Given the description of an element on the screen output the (x, y) to click on. 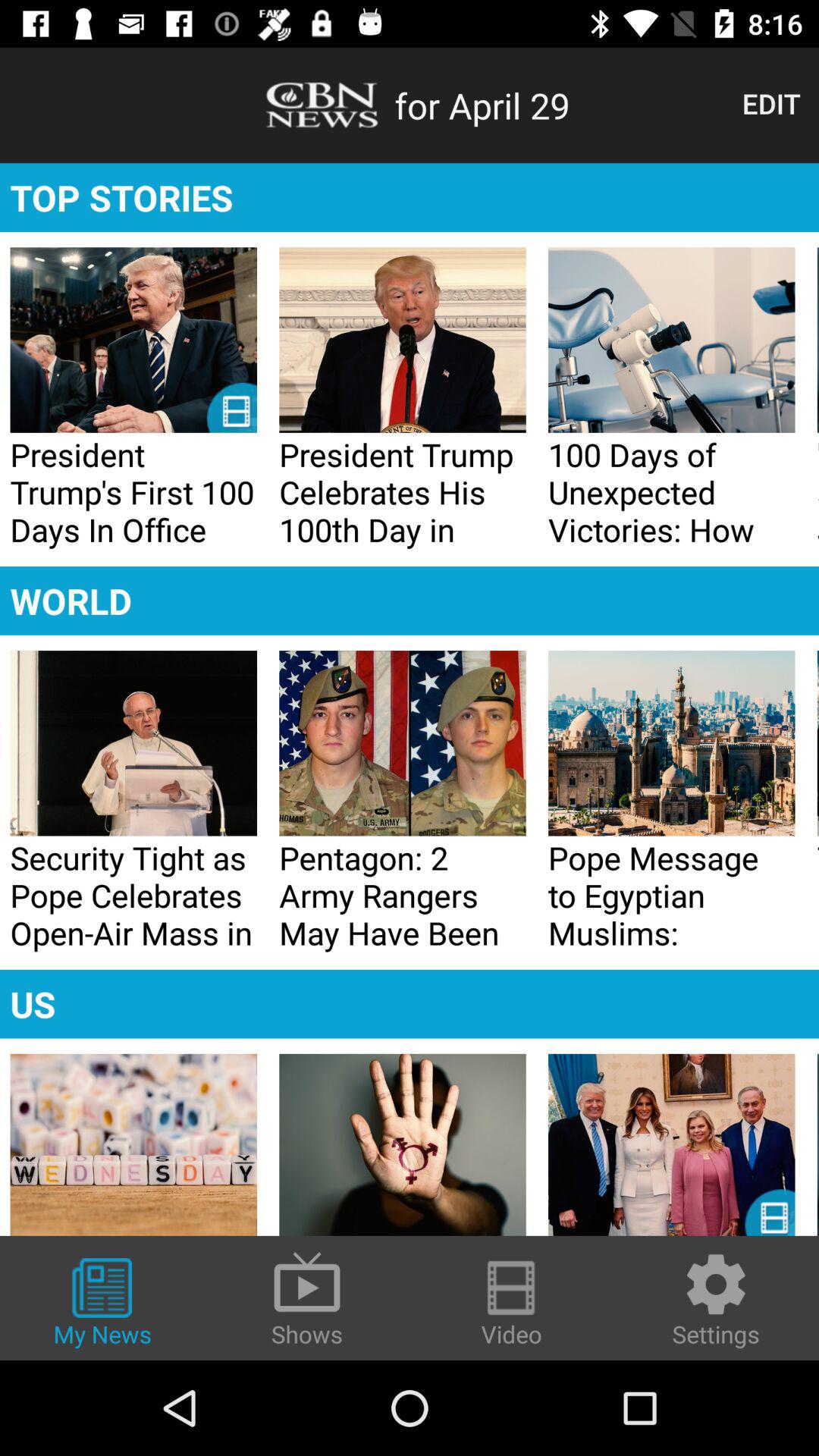
press the item next to the my news icon (306, 1298)
